Given the description of an element on the screen output the (x, y) to click on. 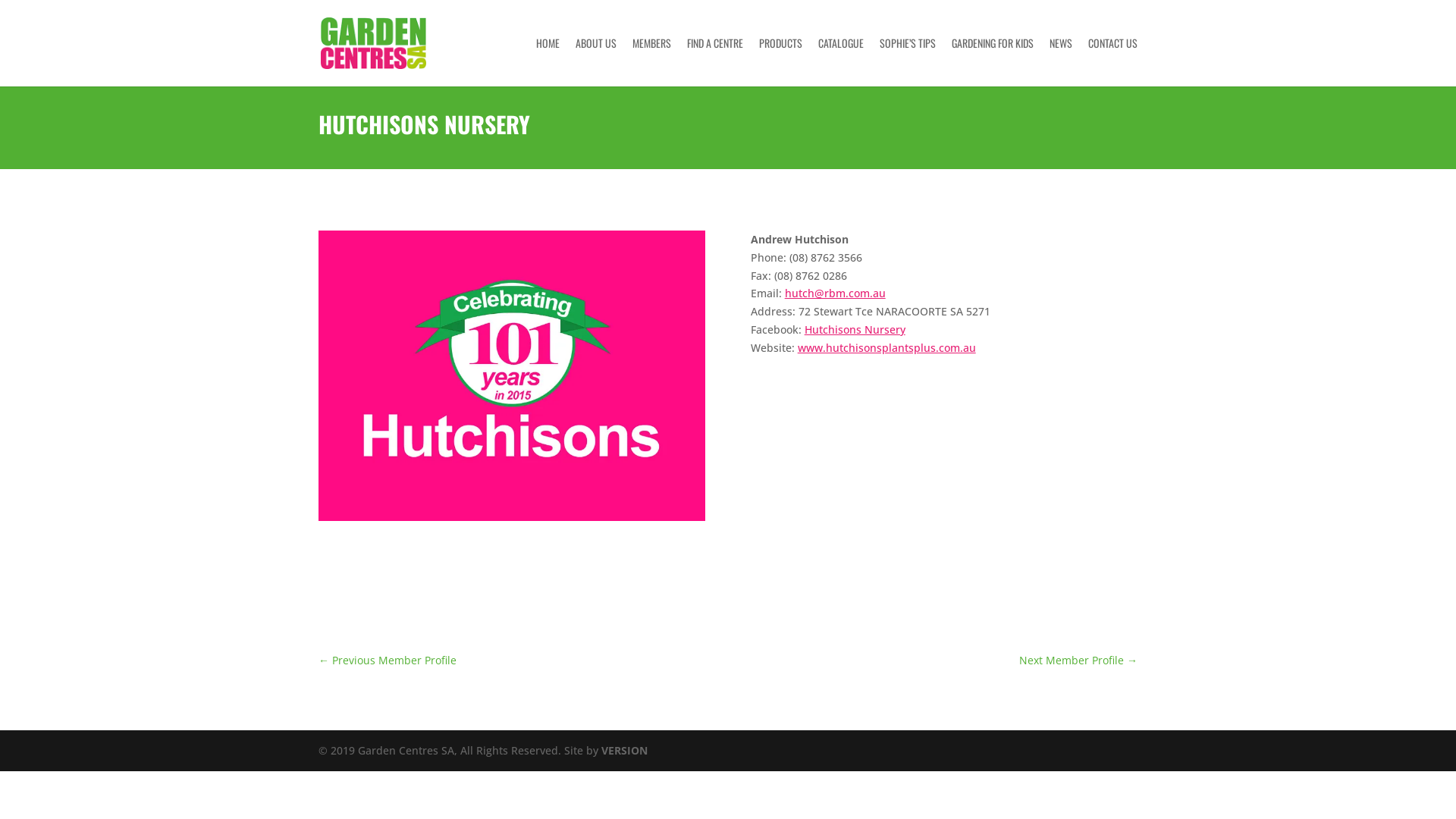
PRODUCTS Element type: text (780, 61)
NEWS Element type: text (1060, 61)
HOME Element type: text (547, 61)
hutch@rbm.com.au Element type: text (834, 292)
VERSION Element type: text (624, 750)
ABOUT US Element type: text (595, 61)
GARDENING FOR KIDS Element type: text (992, 61)
CONTACT US Element type: text (1112, 61)
www.hutchisonsplantsplus.com.au Element type: text (886, 347)
CATALOGUE Element type: text (840, 61)
MEMBERS Element type: text (651, 61)
Hutchisons Nursery Element type: text (854, 329)
FIND A CENTRE Element type: text (715, 61)
